Given the description of an element on the screen output the (x, y) to click on. 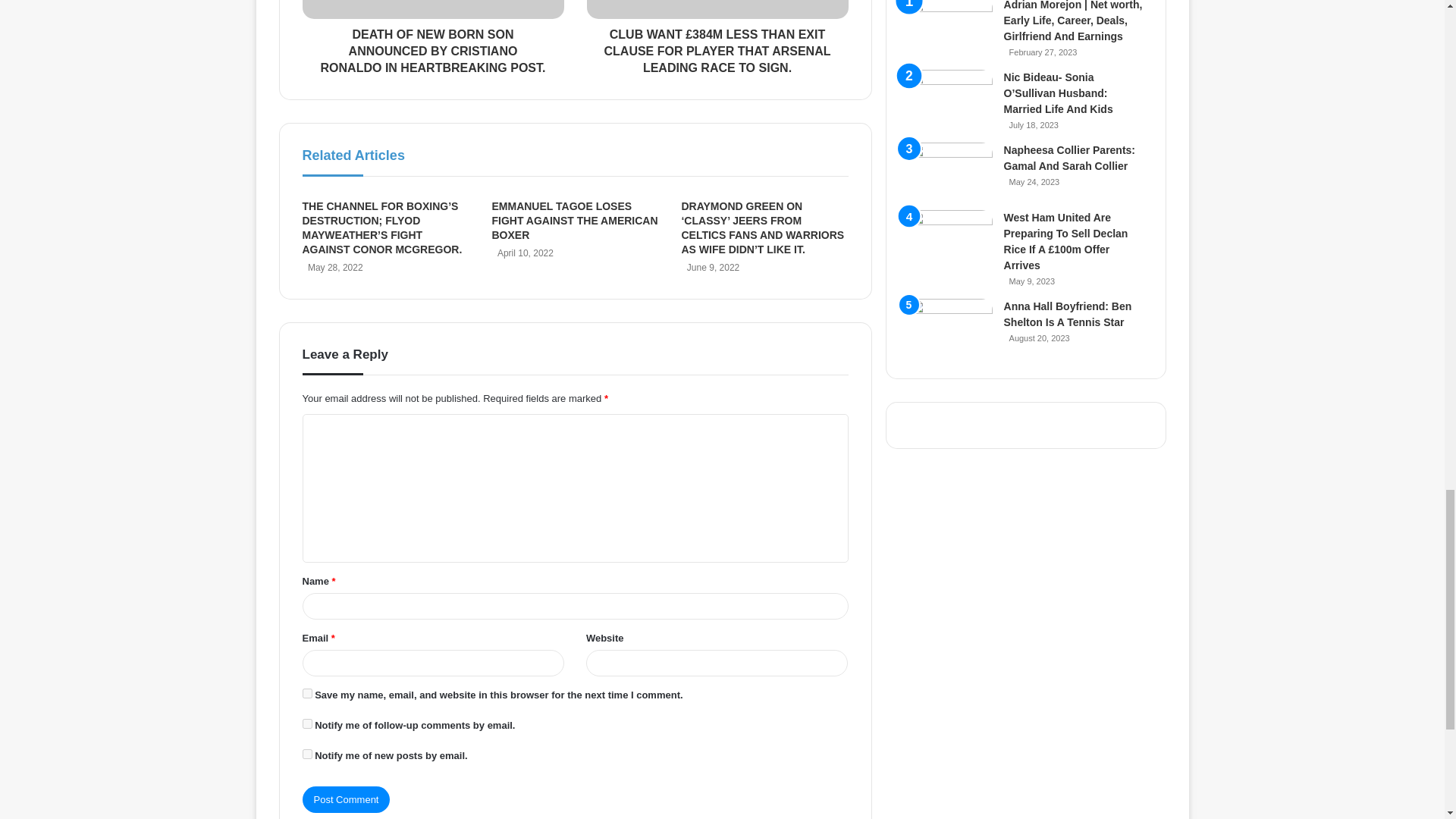
subscribe (306, 754)
subscribe (306, 723)
yes (306, 693)
Post Comment (345, 799)
